Given the description of an element on the screen output the (x, y) to click on. 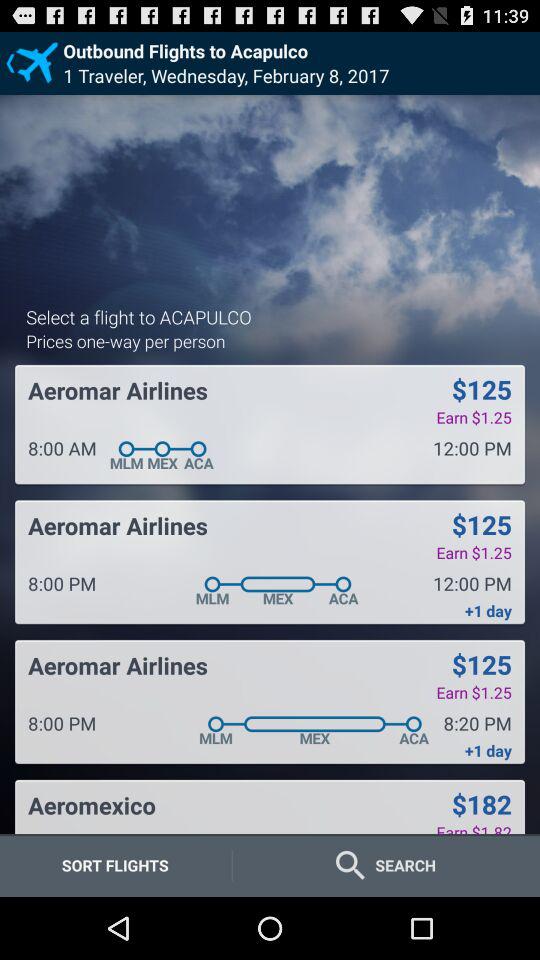
swipe until the prices one way item (125, 340)
